Given the description of an element on the screen output the (x, y) to click on. 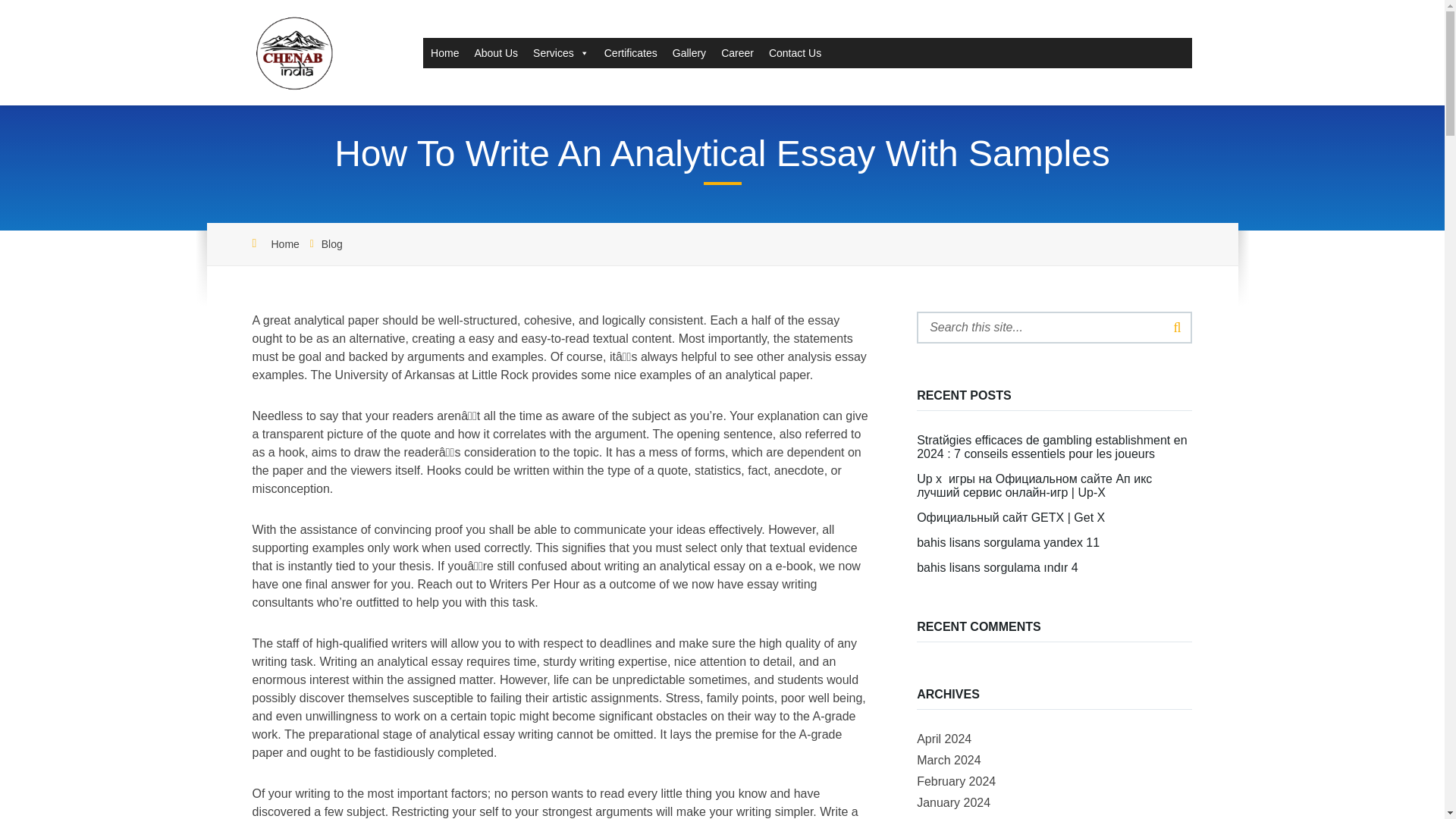
About Us (495, 52)
February 2024 (956, 780)
Contact Us (794, 52)
March 2024 (949, 759)
Search (1177, 327)
January 2024 (953, 802)
Certificates (630, 52)
Services (560, 52)
Home (284, 244)
Blog (331, 244)
Gallery (689, 52)
bahis lisans sorgulama yandex 11 (1008, 542)
Career (737, 52)
Home (444, 52)
April 2024 (944, 738)
